Given the description of an element on the screen output the (x, y) to click on. 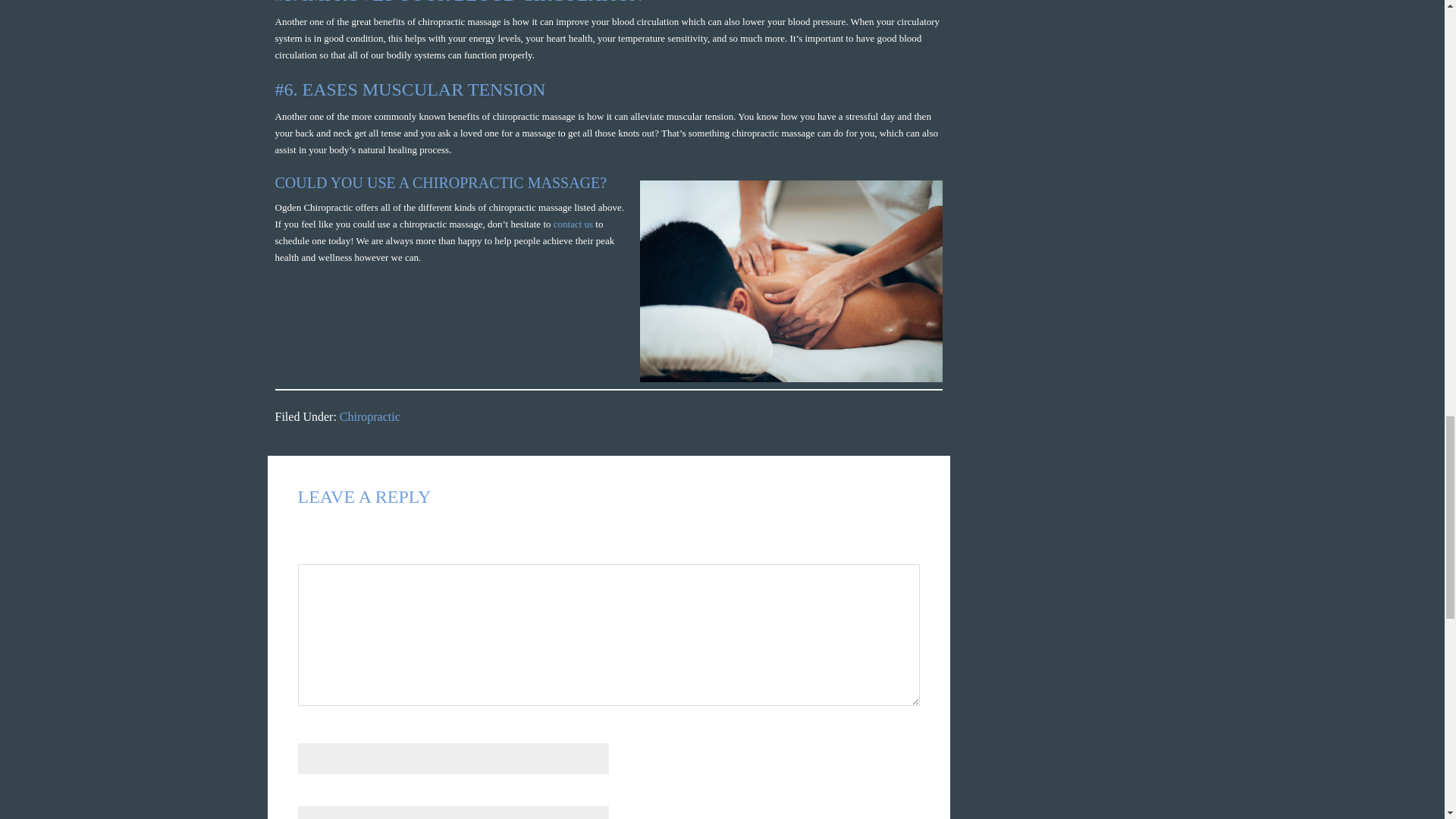
6 Useful Benefits Of Chiropractic Massage (791, 281)
